Given the description of an element on the screen output the (x, y) to click on. 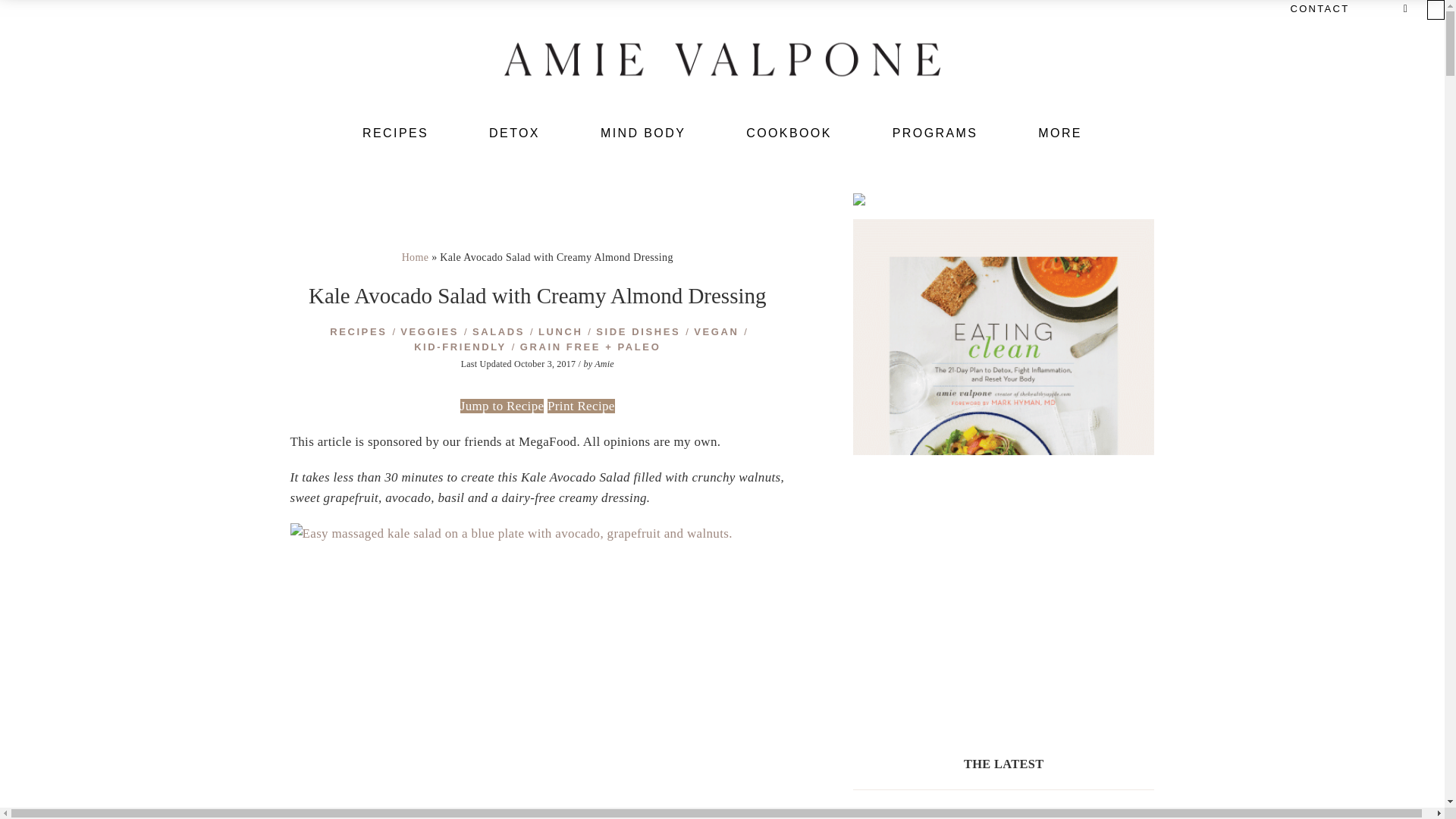
DETOX (514, 133)
RECIPES (395, 133)
CONTACT (1319, 8)
